Given the description of an element on the screen output the (x, y) to click on. 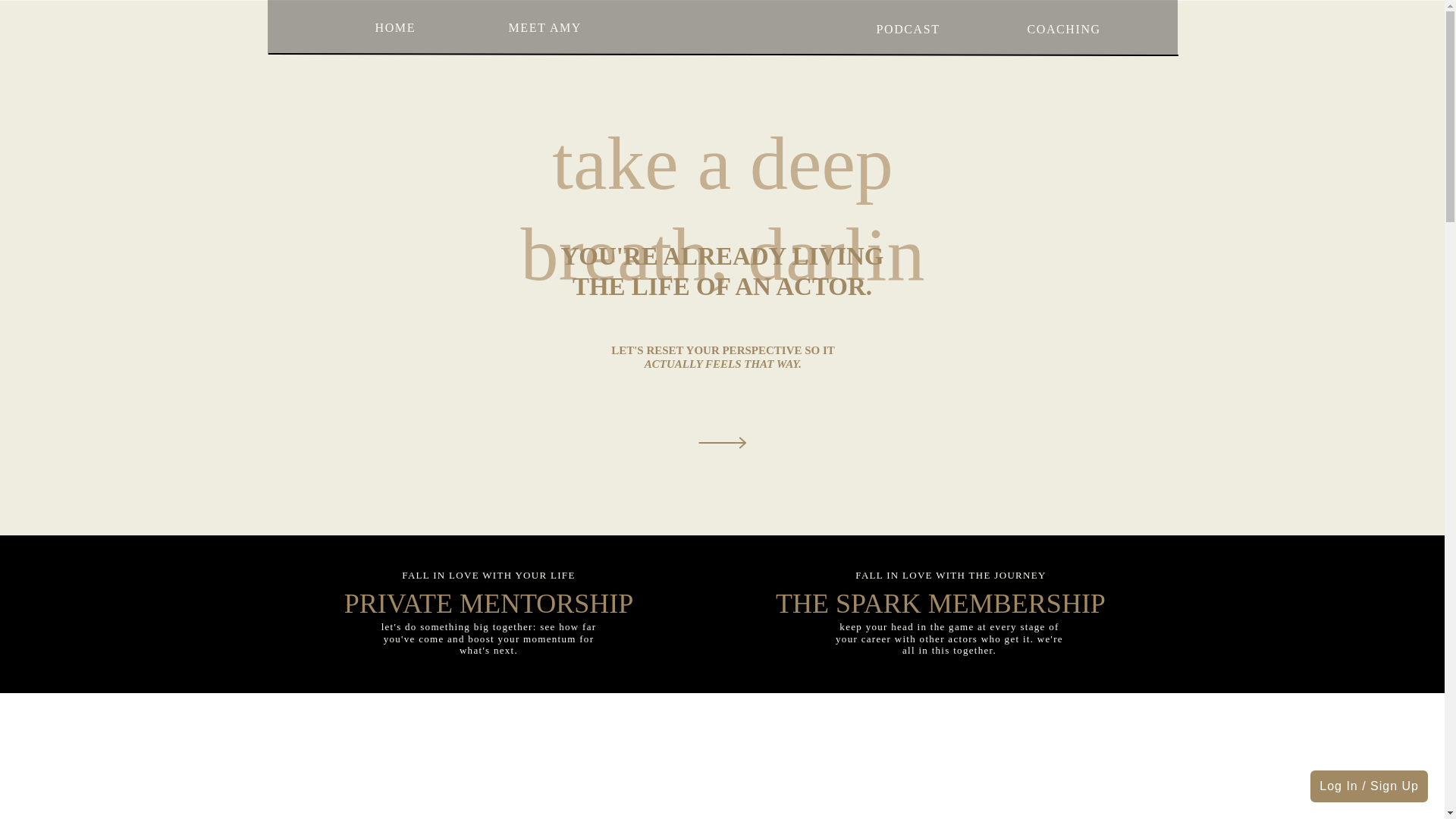
THE SPARK MEMBERSHIP (940, 598)
PRIVATE MENTORSHIP (488, 598)
COACHING (1062, 28)
HOME (393, 26)
MEET AMY (548, 26)
PODCAST (906, 28)
